Given the description of an element on the screen output the (x, y) to click on. 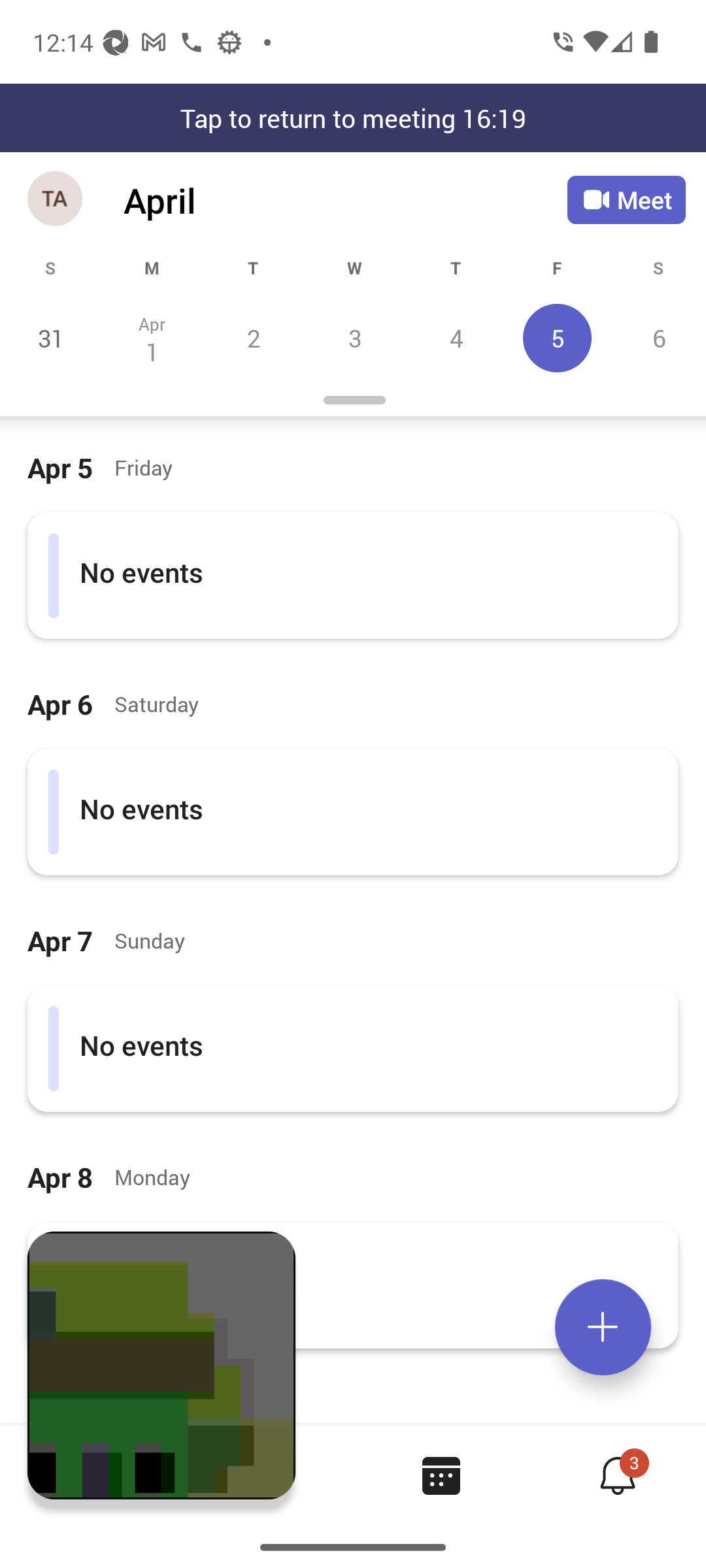
Tap to return to meeting 16:19 (353, 117)
Navigation (56, 199)
Meet Meet now or join with an ID (626, 199)
April April Calendar Agenda View (345, 199)
Sunday, March 31 31 (50, 337)
Monday, April 1 Apr 1 (151, 337)
Tuesday, April 2 2 (253, 337)
Wednesday, April 3 3 (354, 337)
Thursday, April 4 4 (455, 337)
Friday, April 5, Selected 5 (556, 337)
Saturday, April 6 6 (656, 337)
Expand meetings menu (602, 1327)
Calendar tab, 3 of 4 (441, 1475)
Activity tab,4 of 4, not selected, 3 new 3 (617, 1475)
